Given the description of an element on the screen output the (x, y) to click on. 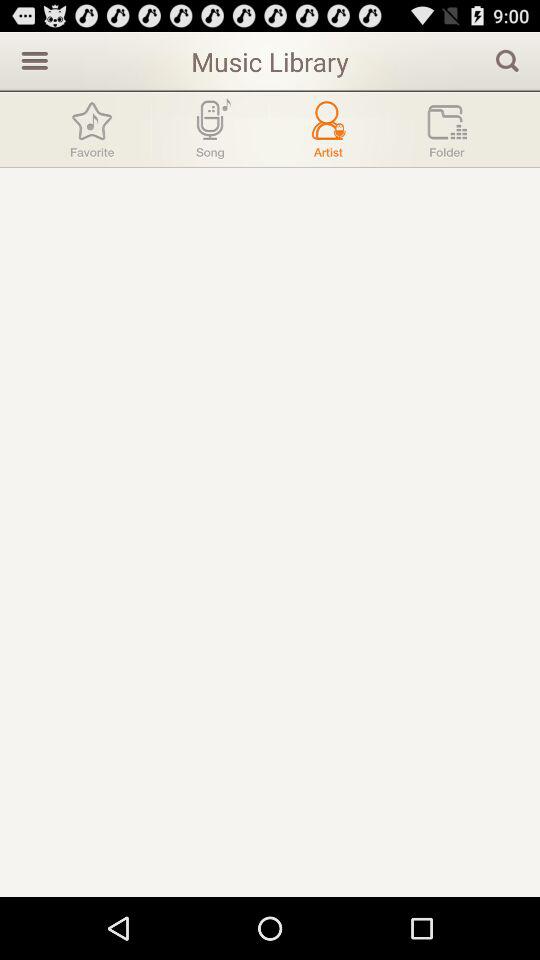
select artist (328, 129)
